Given the description of an element on the screen output the (x, y) to click on. 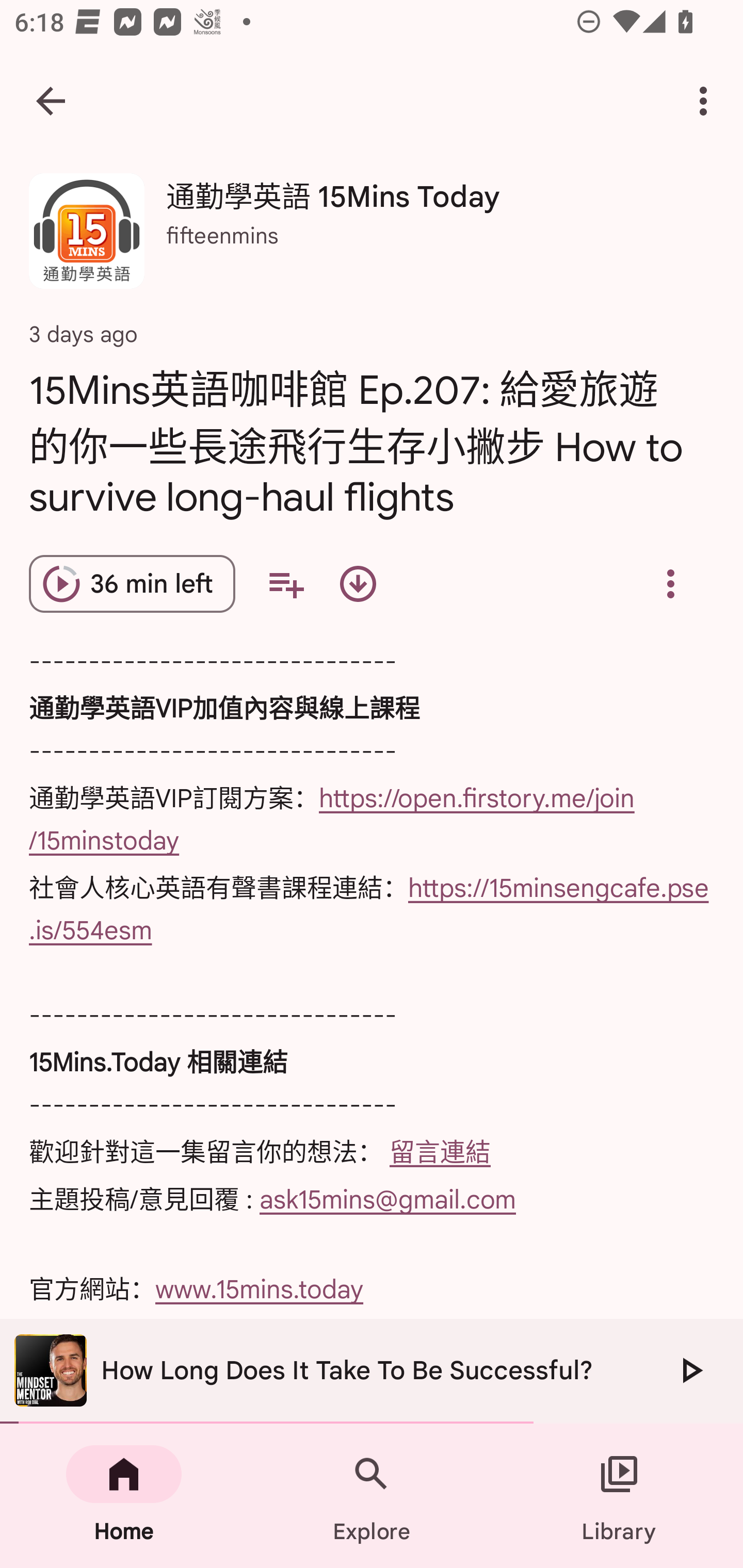
Navigate up (50, 101)
More options (706, 101)
通勤學英語 15Mins Today 通勤學英語 15Mins Today fifteenmins (371, 238)
Add to your queue (285, 583)
Download episode (357, 583)
Overflow menu (670, 583)
Play (690, 1370)
Explore (371, 1495)
Library (619, 1495)
